Given the description of an element on the screen output the (x, y) to click on. 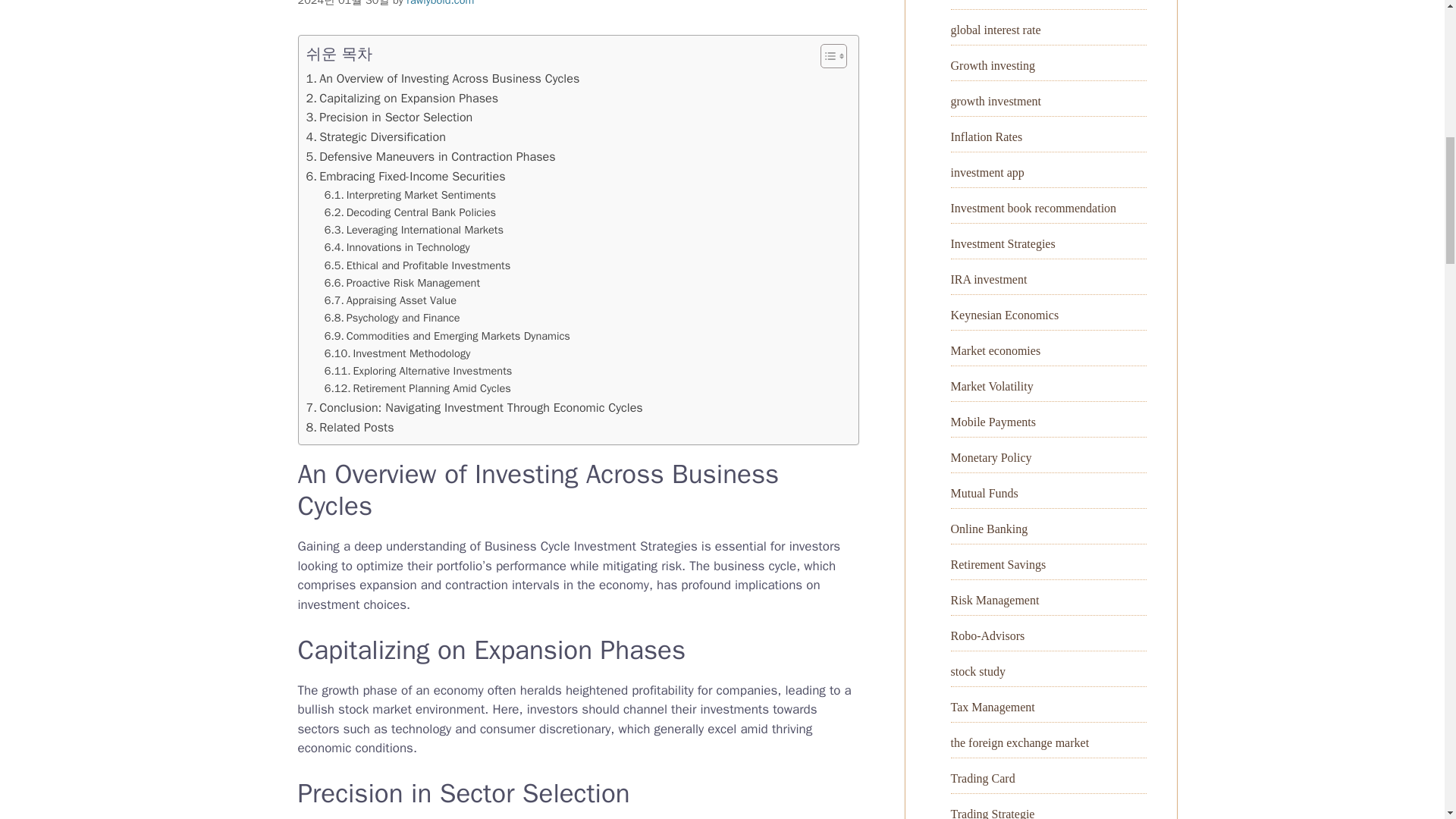
Leveraging International Markets (413, 230)
Related Posts (349, 427)
Psychology and Finance (392, 317)
Conclusion: Navigating Investment Through Economic Cycles (474, 407)
Innovations in Technology (397, 247)
View all posts by rawlybold.com (440, 3)
An Overview of Investing Across Business Cycles (442, 78)
Exploring Alternative Investments (418, 371)
Strategic Diversification (375, 137)
Precision in Sector Selection (389, 117)
Embracing Fixed-Income Securities (405, 176)
Interpreting Market Sentiments (410, 194)
Appraising Asset Value (390, 300)
An Overview of Investing Across Business Cycles (442, 78)
Decoding Central Bank Policies (410, 212)
